Given the description of an element on the screen output the (x, y) to click on. 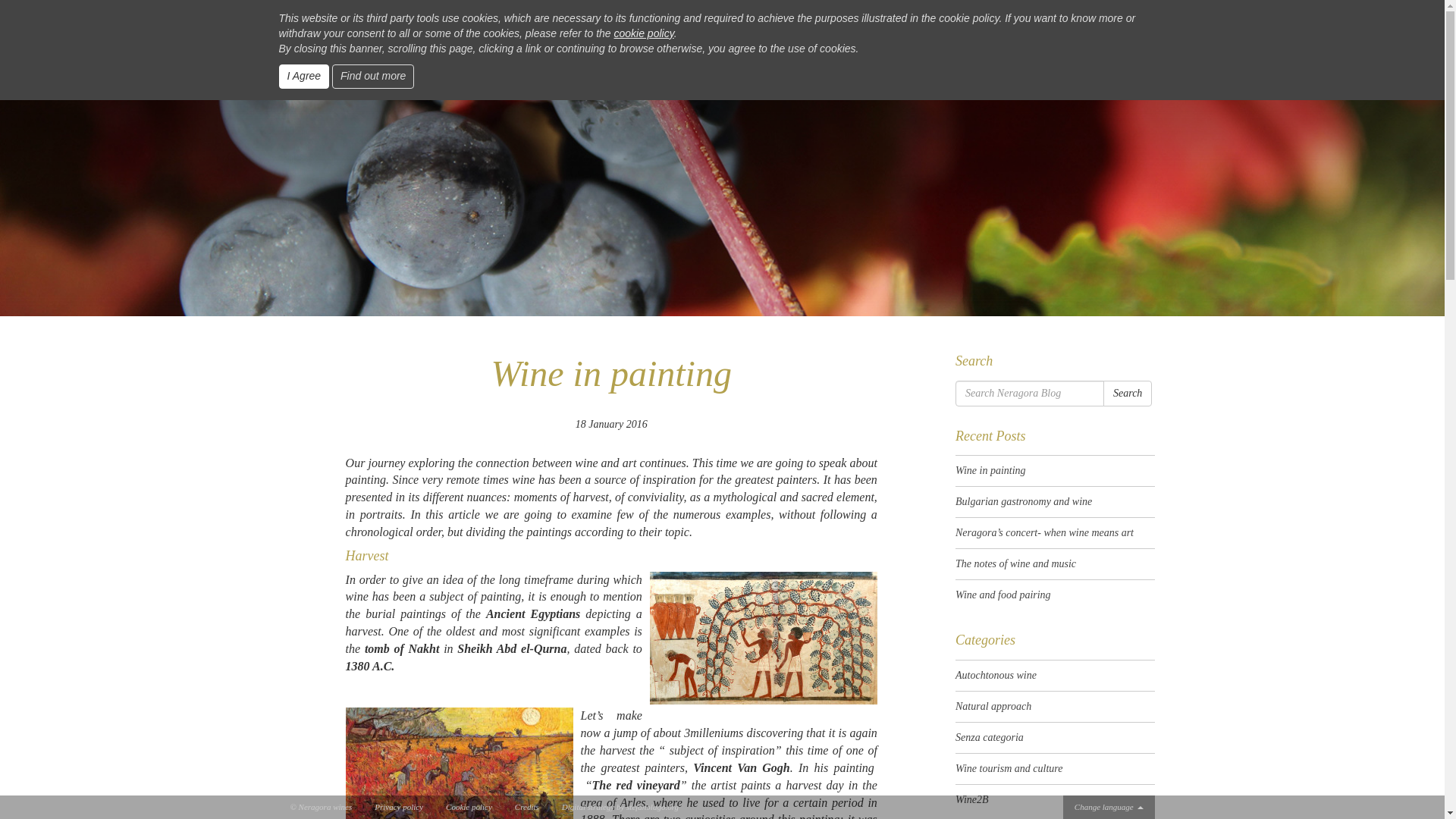
Wine2B (892, 87)
cookie policy (644, 33)
Autochtonous wine (1054, 675)
I Agree (304, 76)
Neragora Blog (721, 38)
Wine and food pairing (1054, 594)
Wine in painting (1054, 470)
Wine tourism and culture (1054, 768)
Privacy policy (398, 806)
Wine tourism and culture (796, 87)
Autochtonous wine (677, 87)
Cookie policy (468, 806)
Credits (526, 806)
The notes of wine and music (1054, 563)
Search (1127, 393)
